Given the description of an element on the screen output the (x, y) to click on. 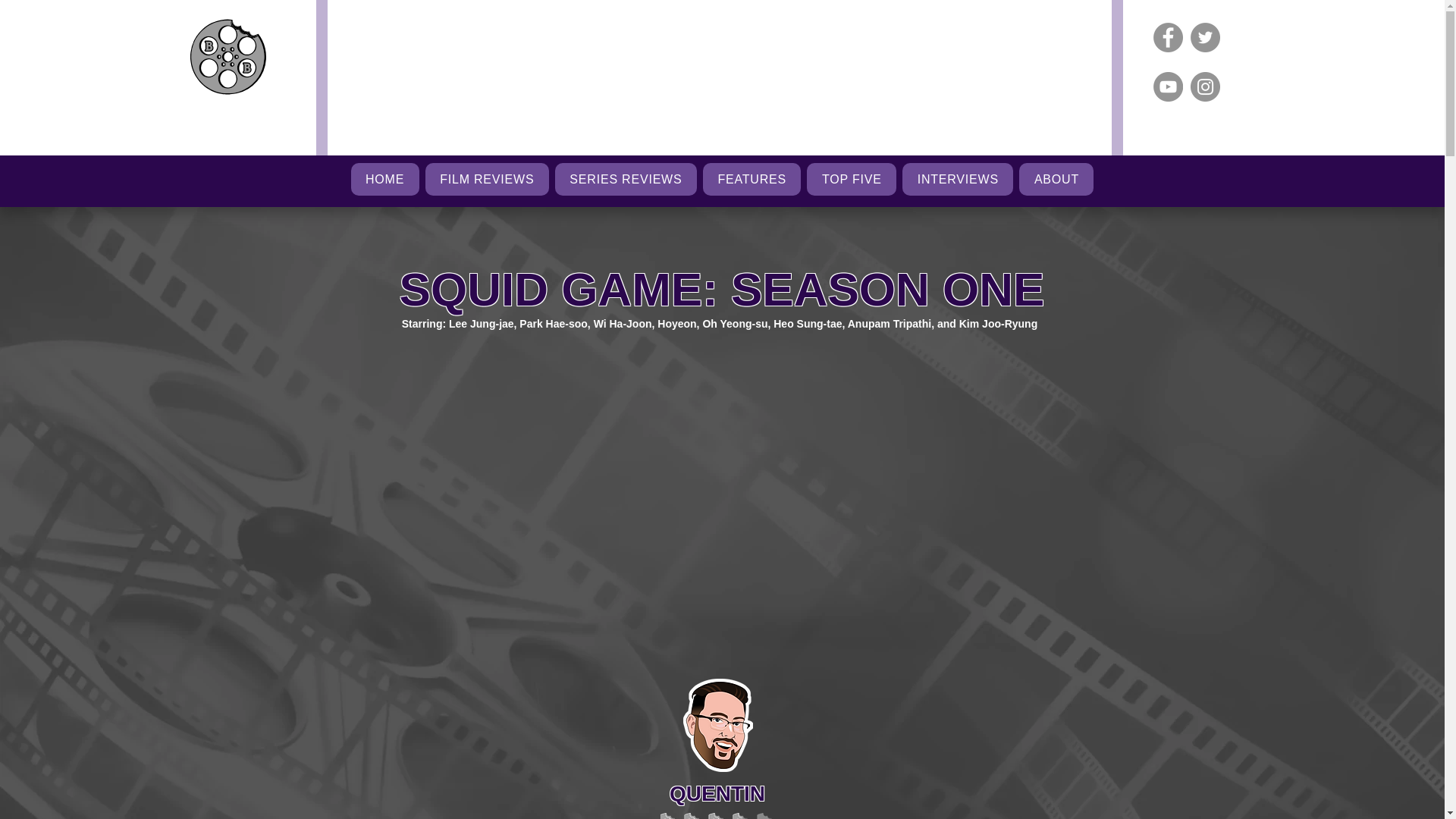
Rating Remotes 3.5.png (718, 816)
HOME (384, 178)
TOP FIVE (851, 178)
FEATURES (752, 178)
INTERVIEWS (957, 178)
ABOUT (1056, 178)
FILM REVIEWS (486, 178)
SERIES REVIEWS (625, 178)
